Given the description of an element on the screen output the (x, y) to click on. 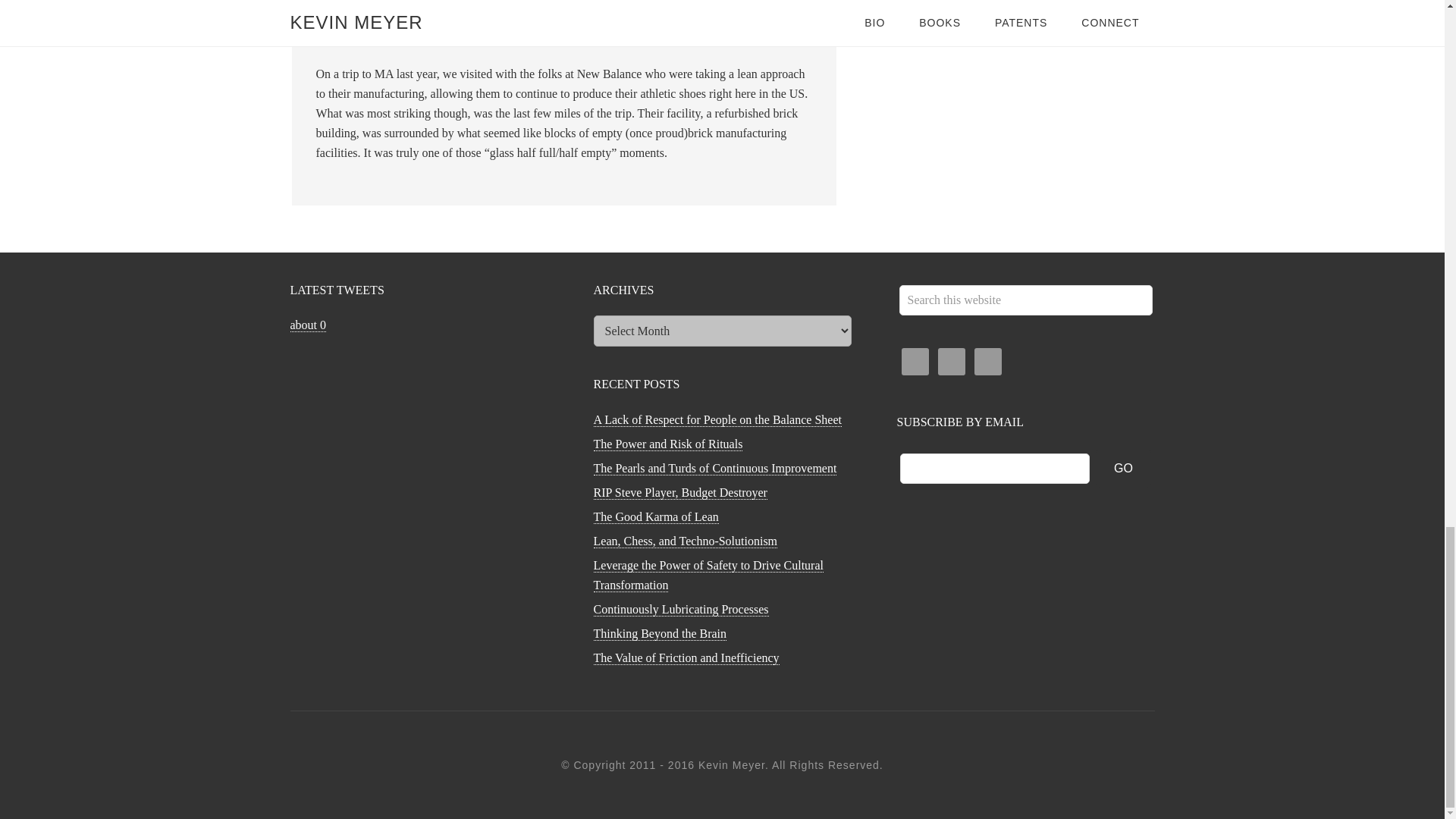
Lean, Chess, and Techno-Solutionism (684, 540)
The Value of Friction and Inefficiency (685, 658)
Go (1123, 468)
Thinking Beyond the Brain (659, 633)
about 0 (307, 325)
28 March 2008 at 5:57 am (379, 2)
A Lack of Respect for People on the Balance Sheet (716, 419)
Continuously Lubricating Processes (680, 609)
